Given the description of an element on the screen output the (x, y) to click on. 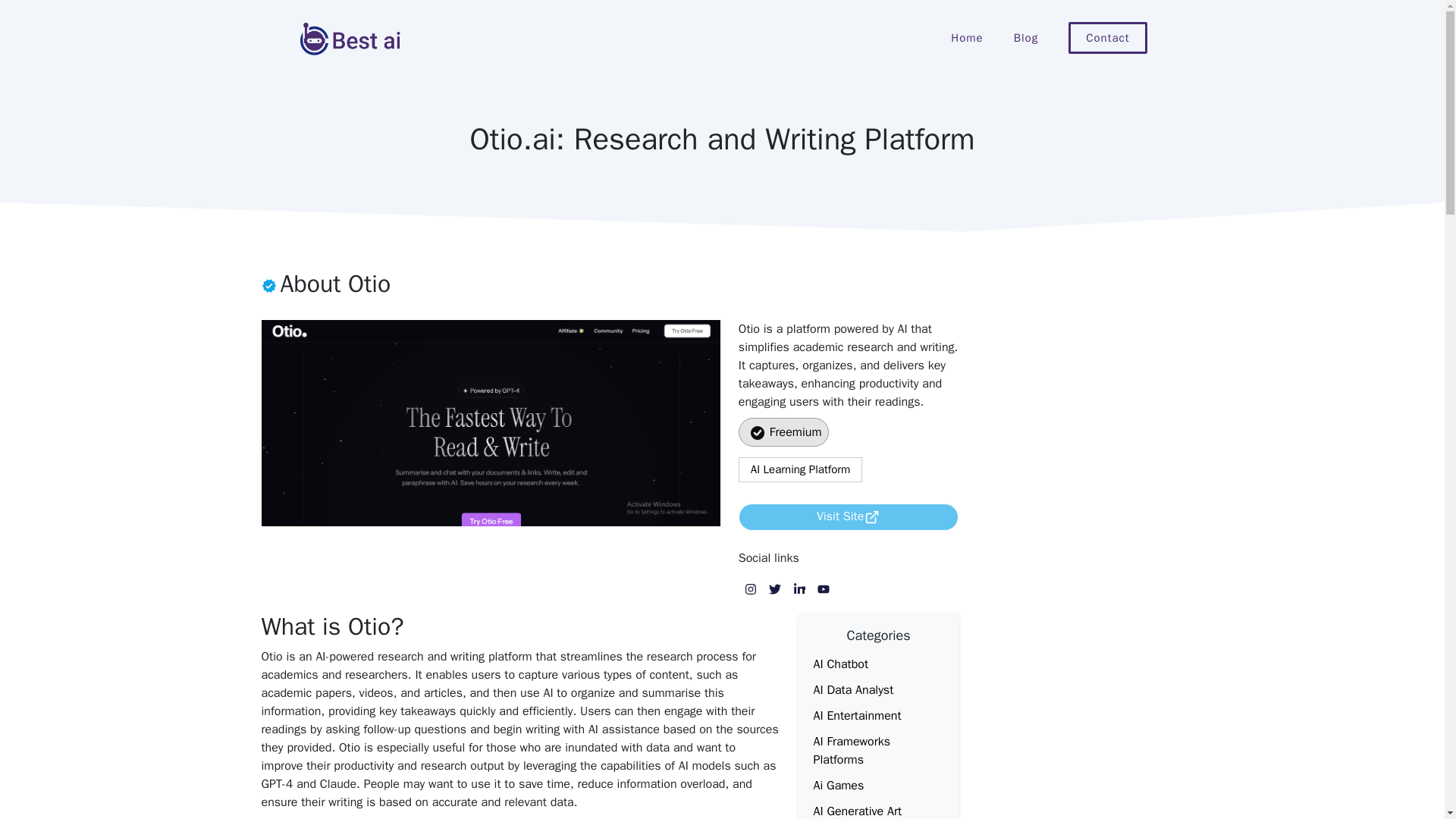
Contact (1107, 38)
AI Chatbot (839, 663)
AI Entertainment (856, 715)
Home (966, 37)
Visit Site (848, 516)
Ai Games (837, 785)
Visit Site (839, 516)
Blog (1025, 37)
AI Data Analyst (852, 689)
AI Learning Platform (800, 468)
AI Frameworks Platforms (850, 750)
AI Generative Art (856, 811)
